Given the description of an element on the screen output the (x, y) to click on. 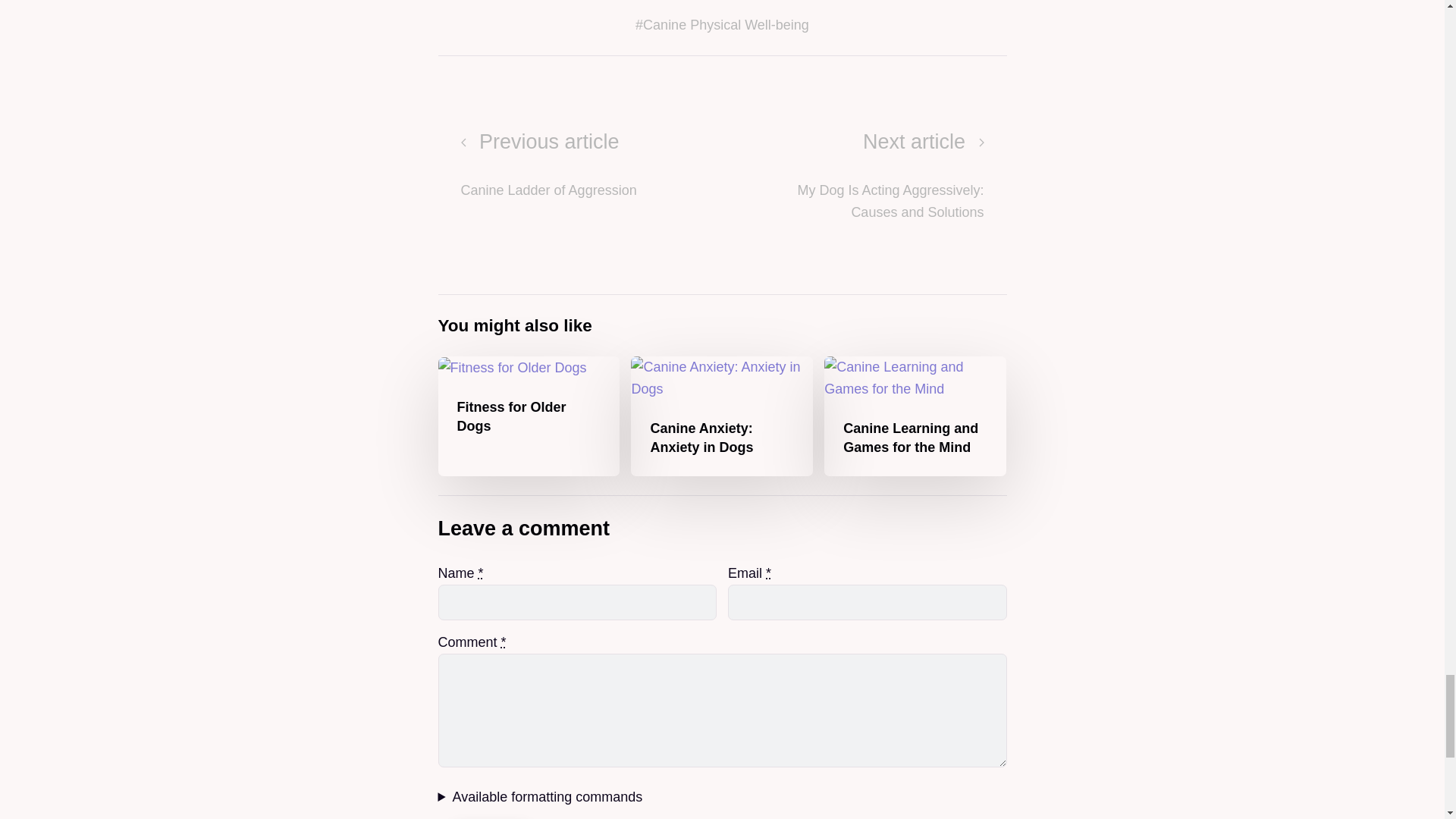
My Dog Is Acting Aggressively: Causes and Solutions (578, 174)
Canine Ladder of Aggression (866, 174)
